Given the description of an element on the screen output the (x, y) to click on. 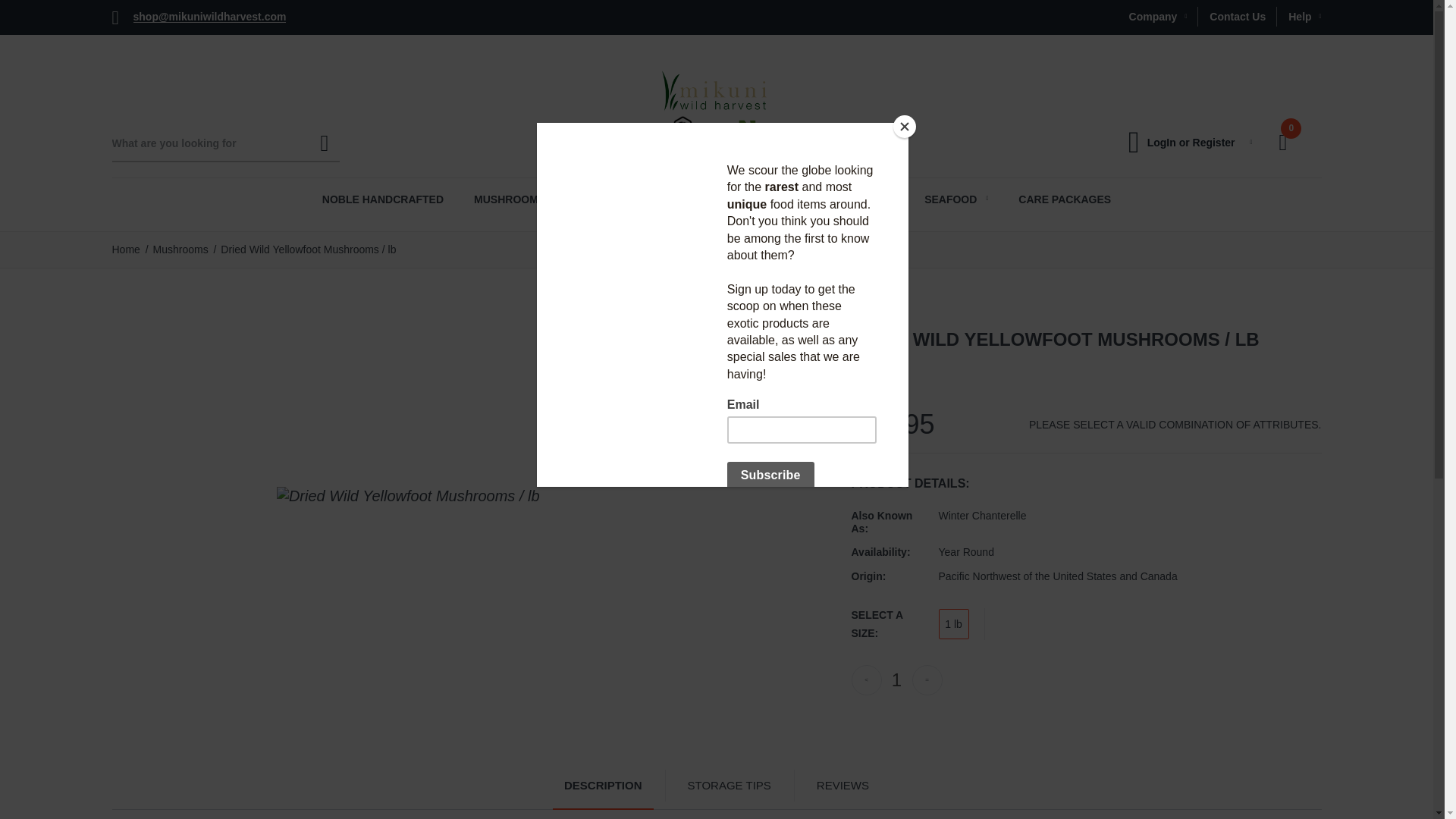
select a size: (893, 624)
Home (125, 249)
Mikuni Wild Harvest (715, 112)
1 lb (954, 624)
Mushrooms (180, 249)
Company (1158, 16)
1 (895, 680)
